Given the description of an element on the screen output the (x, y) to click on. 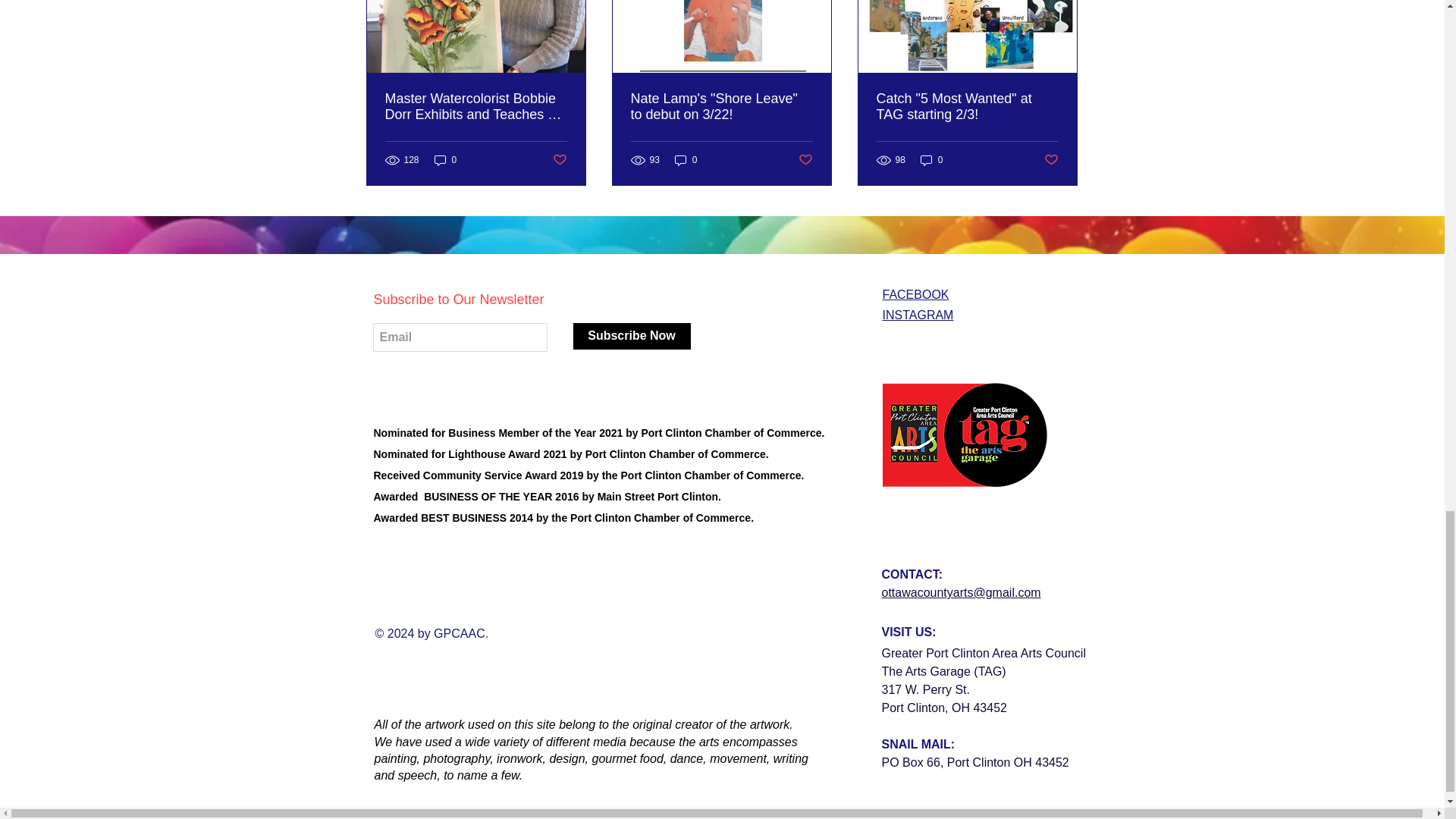
Post not marked as liked (1050, 160)
0 (685, 160)
0 (931, 160)
Post not marked as liked (558, 160)
Post not marked as liked (804, 160)
FACEBOOK (915, 294)
Subscribe Now (631, 335)
INSTAGRAM (917, 314)
24MasterACTAGLogoSM.png (964, 435)
